Given the description of an element on the screen output the (x, y) to click on. 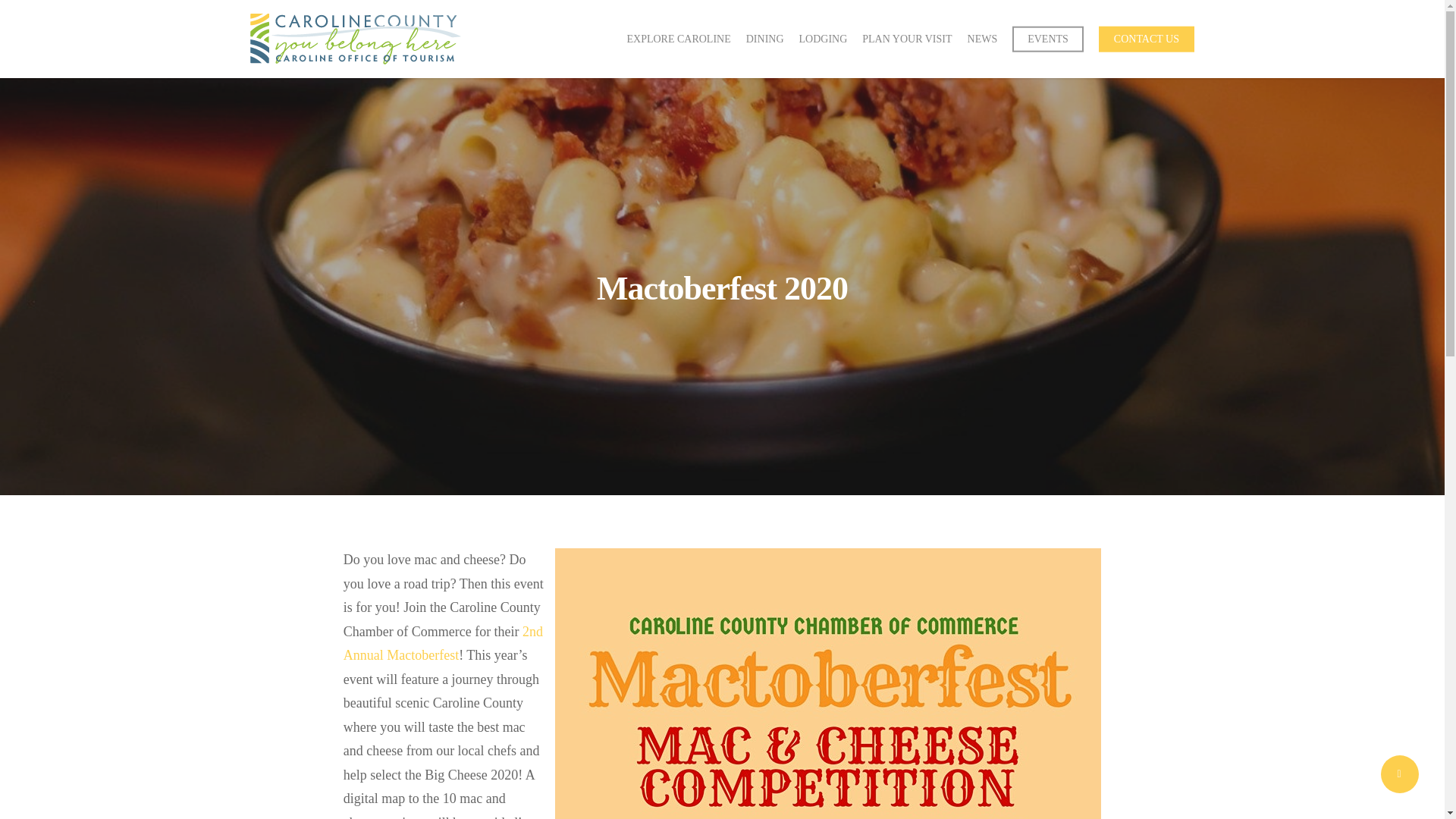
EXPLORE CAROLINE (678, 38)
NEWS (982, 38)
PLAN YOUR VISIT (906, 38)
DINING (764, 38)
LODGING (823, 38)
EVENTS (1047, 38)
CONTACT US (1146, 38)
2nd Annual Mactoberfest (443, 642)
